Given the description of an element on the screen output the (x, y) to click on. 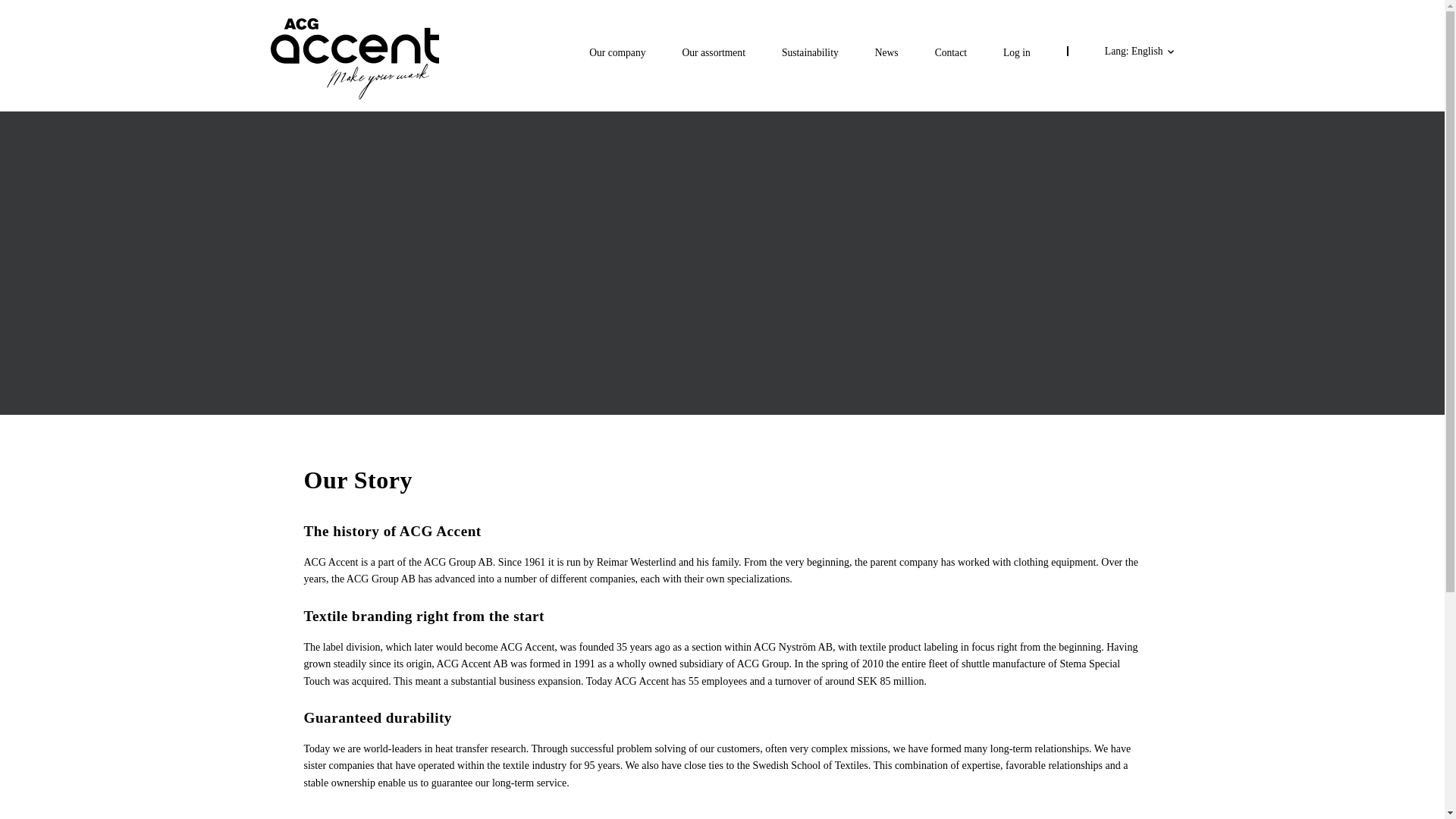
Log in (1016, 52)
Sustainability (809, 52)
News (887, 52)
Our assortment (712, 52)
Our company (616, 52)
Contact (951, 52)
